Given the description of an element on the screen output the (x, y) to click on. 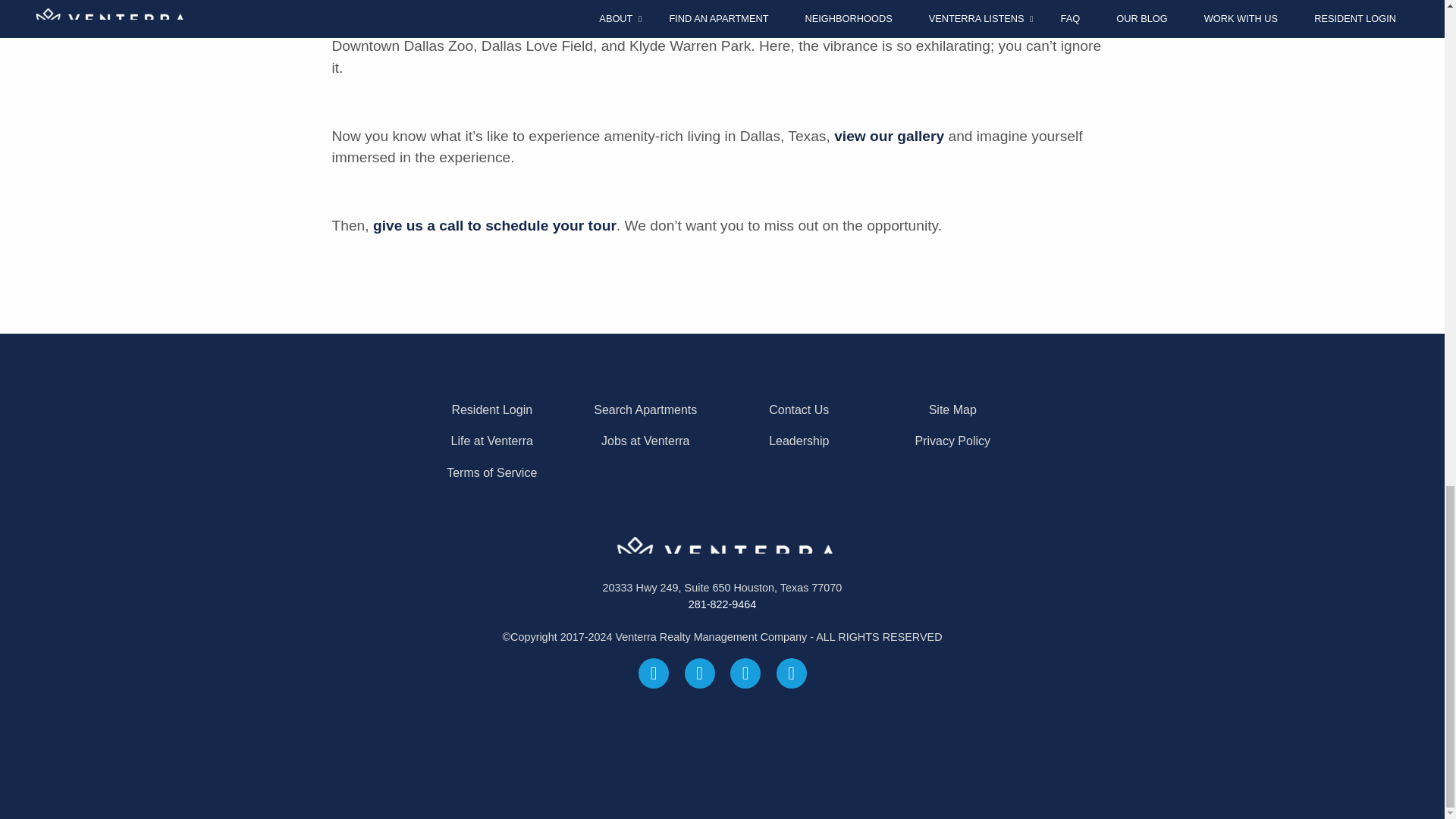
give us a call to schedule your tour (493, 225)
Resident Login (491, 409)
Search Apartments (645, 409)
view our gallery (888, 135)
